Given the description of an element on the screen output the (x, y) to click on. 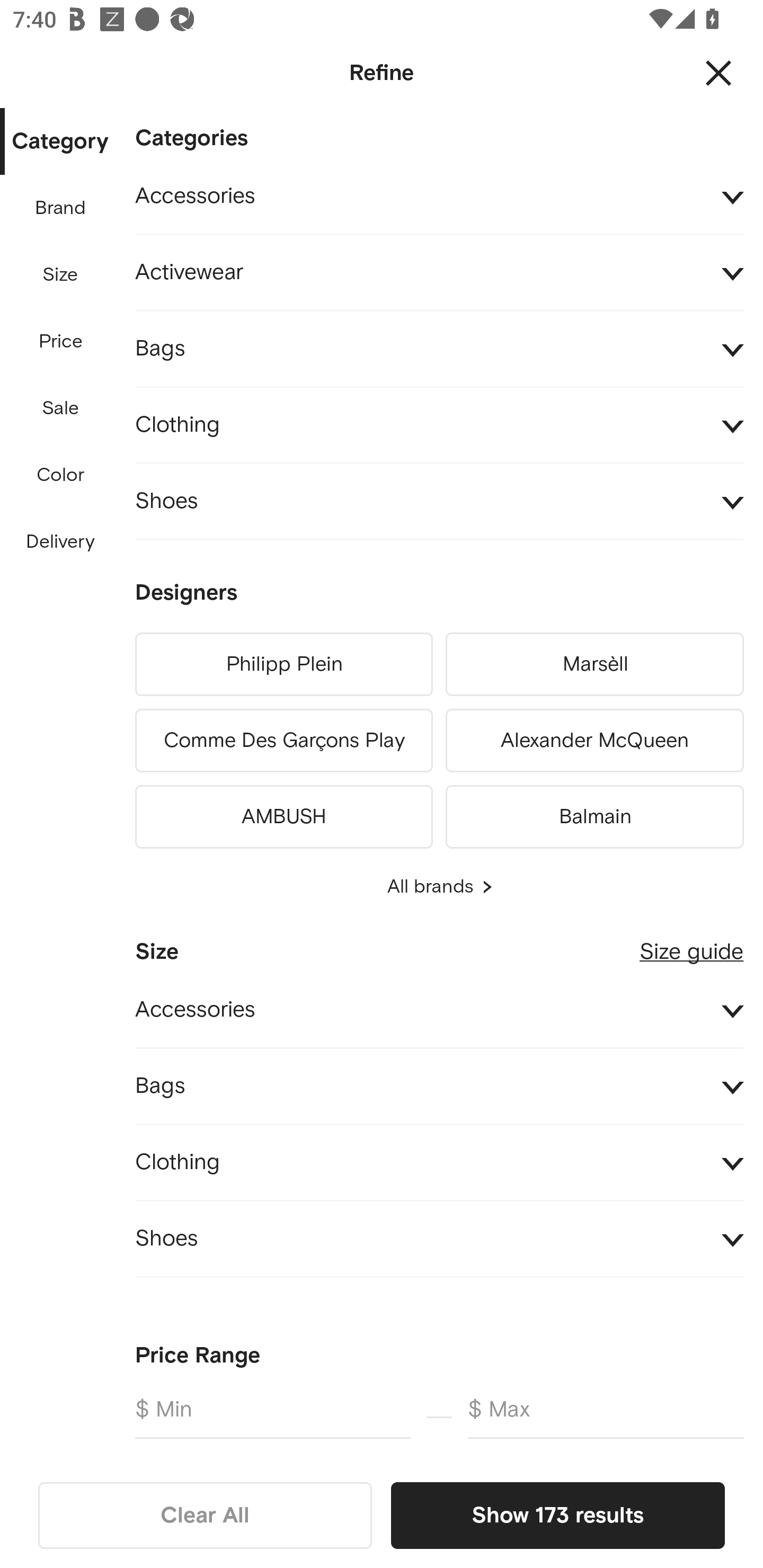
Category (60, 141)
Accessories (439, 196)
Brand (60, 208)
Activewear (439, 272)
Size (60, 274)
Price (60, 342)
Bags (439, 348)
Sale (60, 408)
Clothing (439, 425)
Color (60, 475)
Shoes (439, 501)
Delivery (60, 542)
Philipp Plein (283, 663)
Marsèll (594, 663)
Comme Des Garçons Play (283, 740)
Alexander McQueen (594, 740)
AMBUSH (283, 813)
Balmain (594, 813)
All brands (439, 886)
Size guide (691, 944)
Accessories (439, 1010)
Bags (439, 1086)
Clothing (439, 1162)
Shoes (439, 1239)
$ Min (272, 1416)
$ Max (605, 1416)
Clear All (205, 1515)
Show 173 results (557, 1515)
